Given the description of an element on the screen output the (x, y) to click on. 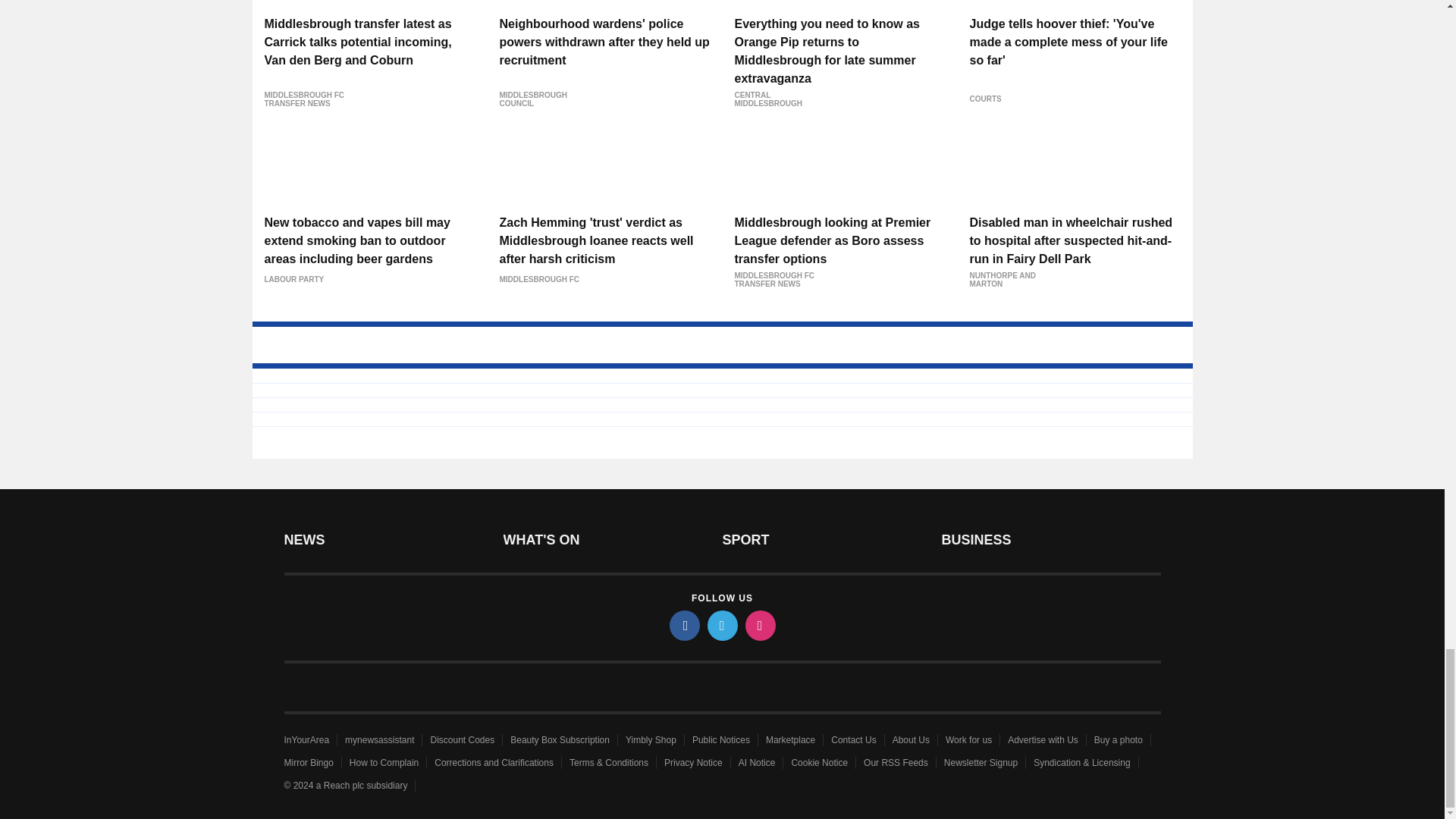
twitter (721, 625)
facebook (683, 625)
instagram (759, 625)
